Given the description of an element on the screen output the (x, y) to click on. 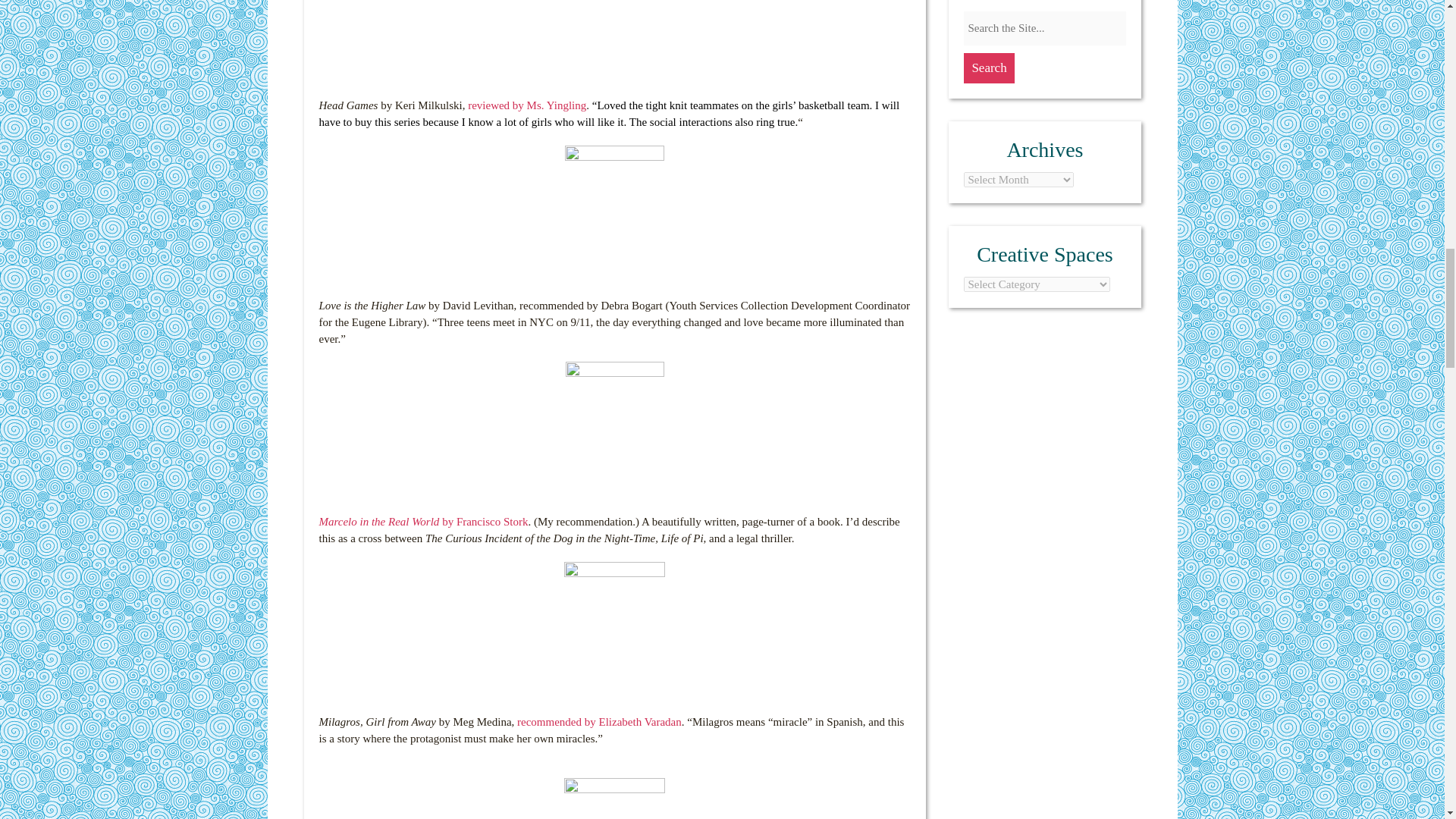
Search (988, 68)
Marcelo in the Real World by Francisco Stork (422, 521)
reviewed by Ms. Yingling (526, 105)
recommended by Elizabeth Varadan (598, 721)
